Given the description of an element on the screen output the (x, y) to click on. 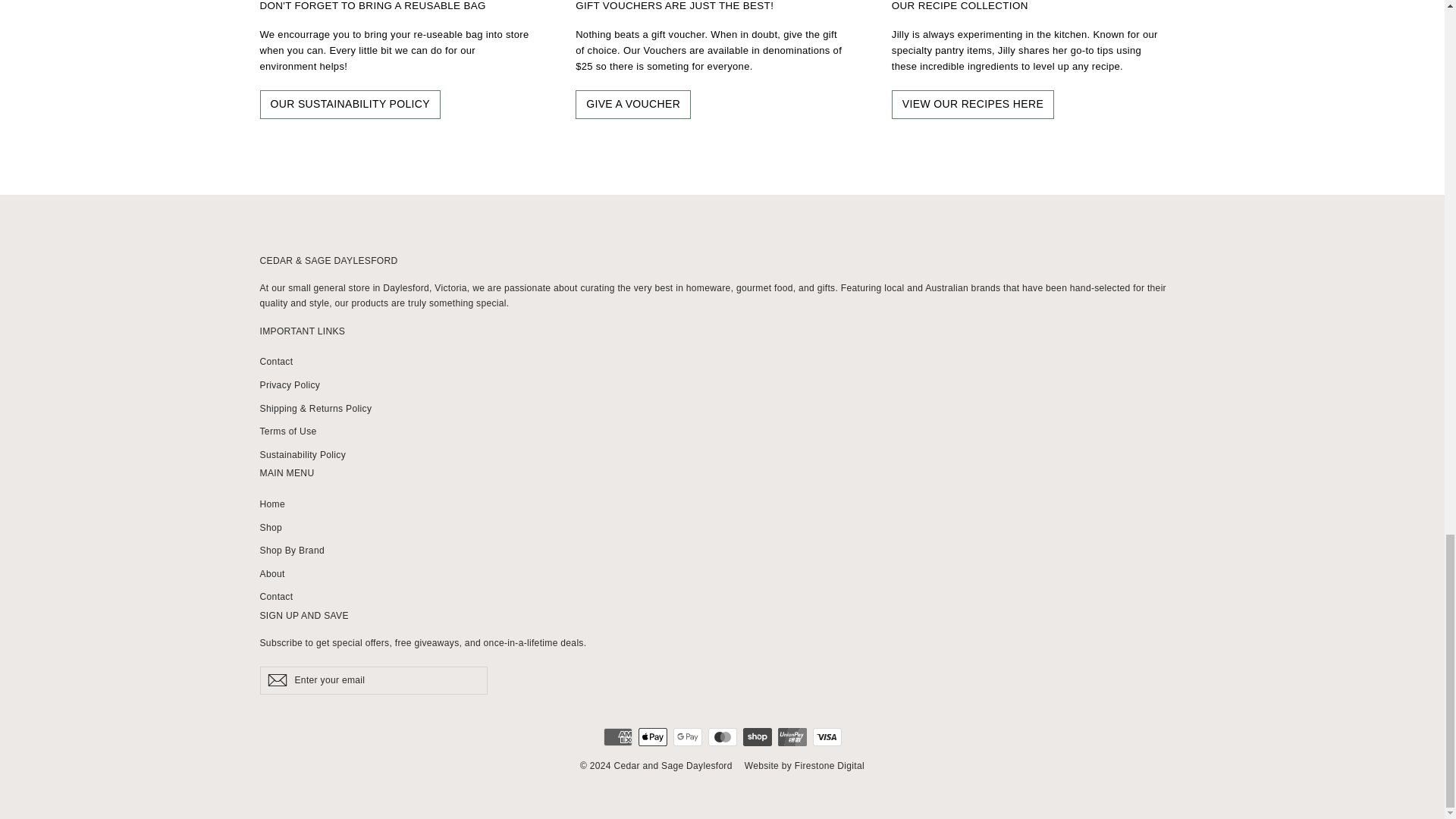
Mastercard (721, 737)
Google Pay (686, 737)
Shop Pay (756, 737)
Apple Pay (652, 737)
American Express (617, 737)
Visa (826, 737)
Union Pay (791, 737)
